Given the description of an element on the screen output the (x, y) to click on. 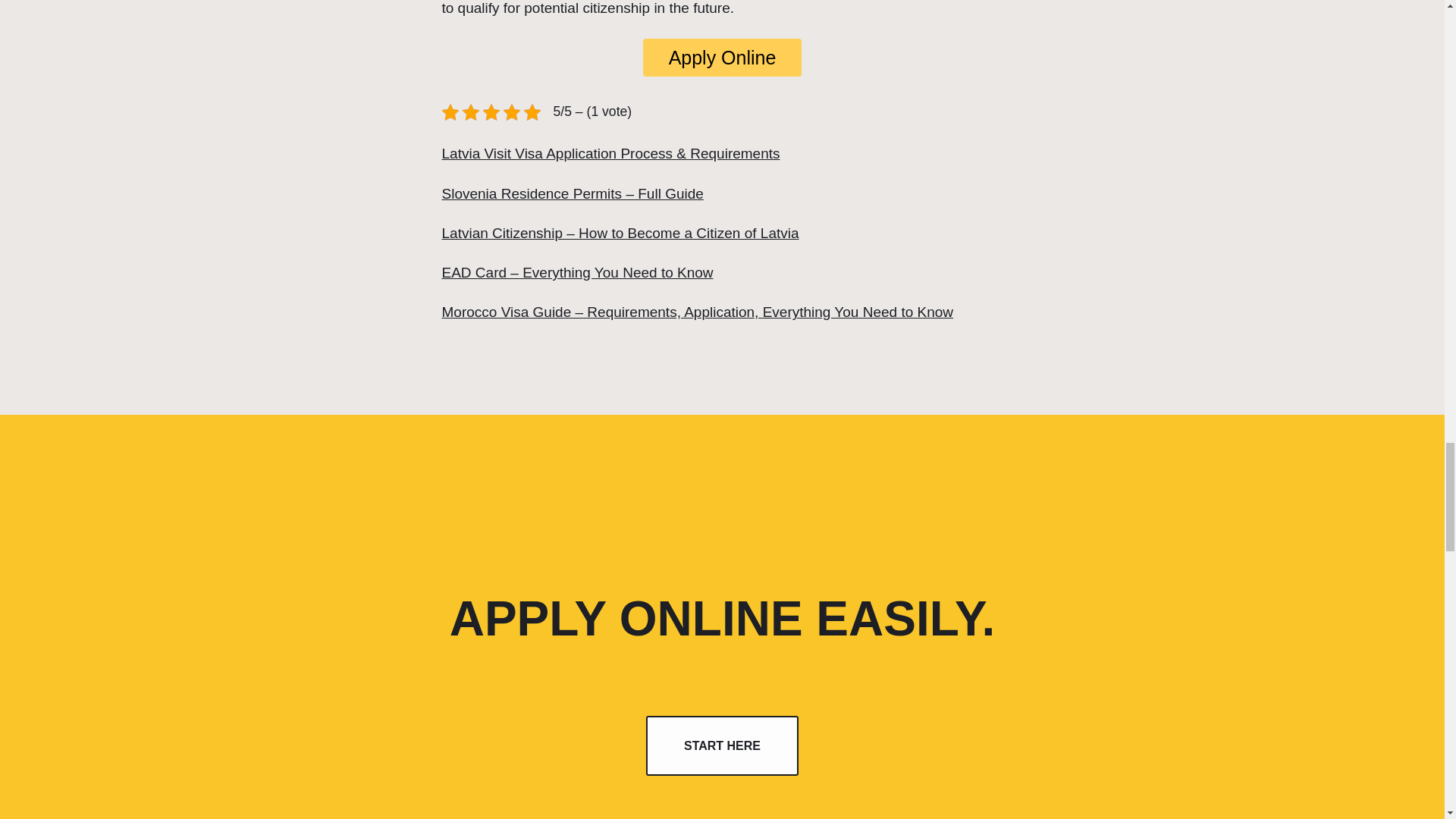
START HERE (721, 745)
Apply Visa Online (722, 57)
Apply Online (722, 57)
